Given the description of an element on the screen output the (x, y) to click on. 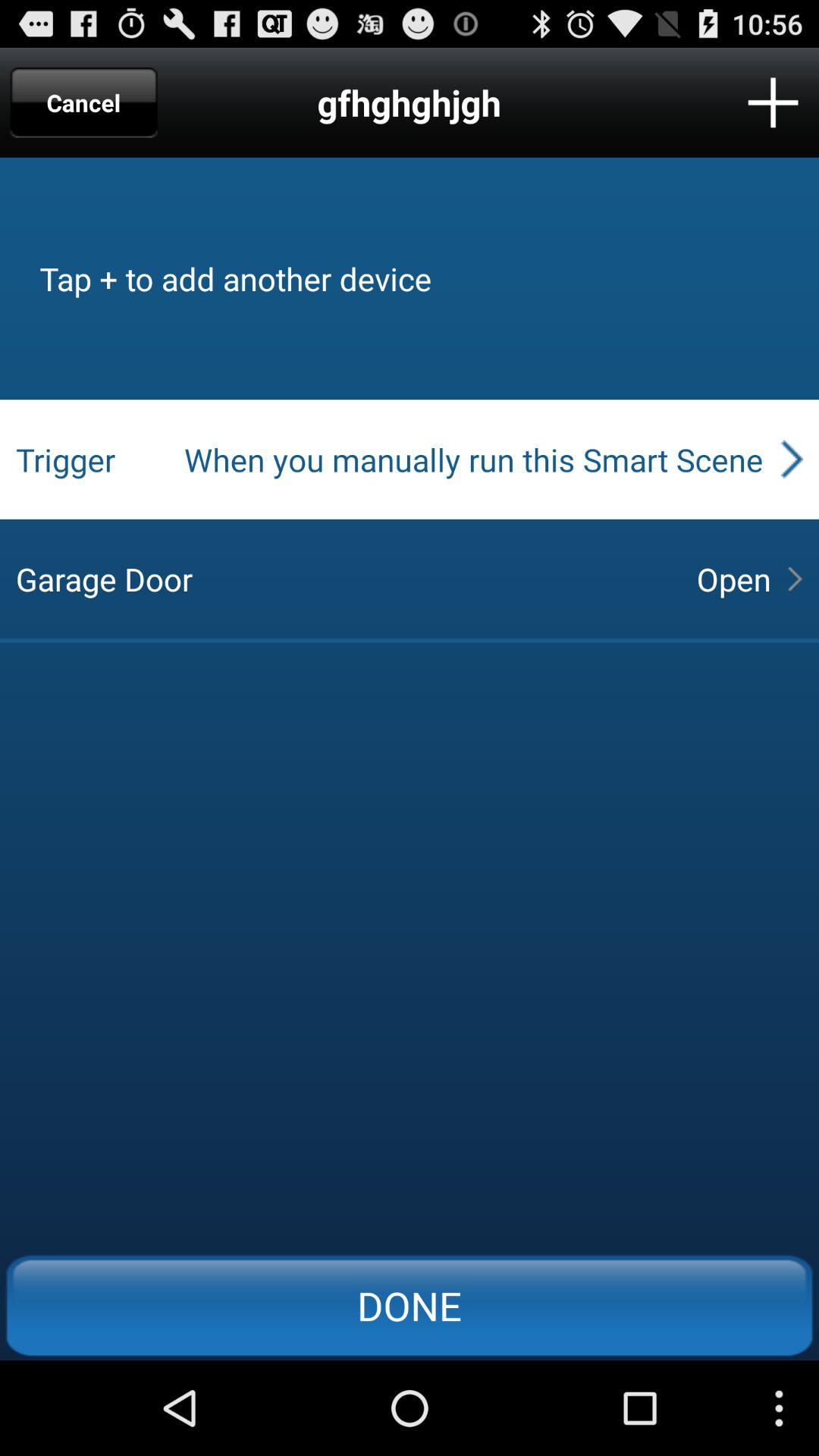
press garage door item (342, 578)
